Given the description of an element on the screen output the (x, y) to click on. 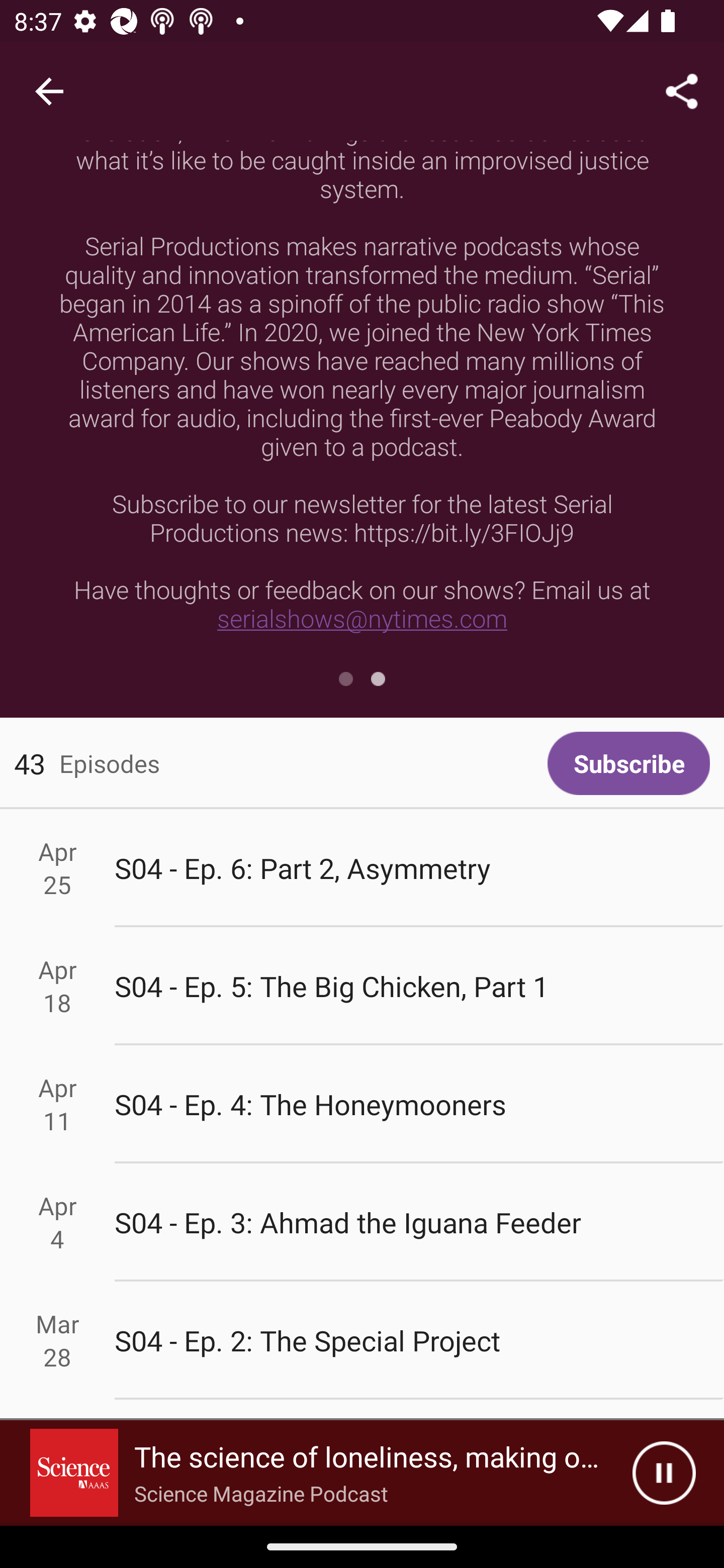
Navigate up (49, 91)
Share... (681, 90)
Subscribe (628, 763)
Apr 25 S04 - Ep. 6: Part 2, Asymmetry (362, 867)
Apr 18 S04 - Ep. 5: The Big Chicken, Part 1 (362, 985)
Apr 11 S04 - Ep. 4: The Honeymooners (362, 1104)
Apr 4 S04 - Ep. 3: Ahmad the Iguana Feeder (362, 1222)
Mar 28 S04 - Ep. 2: The Special Project (362, 1340)
Pause (663, 1472)
